Given the description of an element on the screen output the (x, y) to click on. 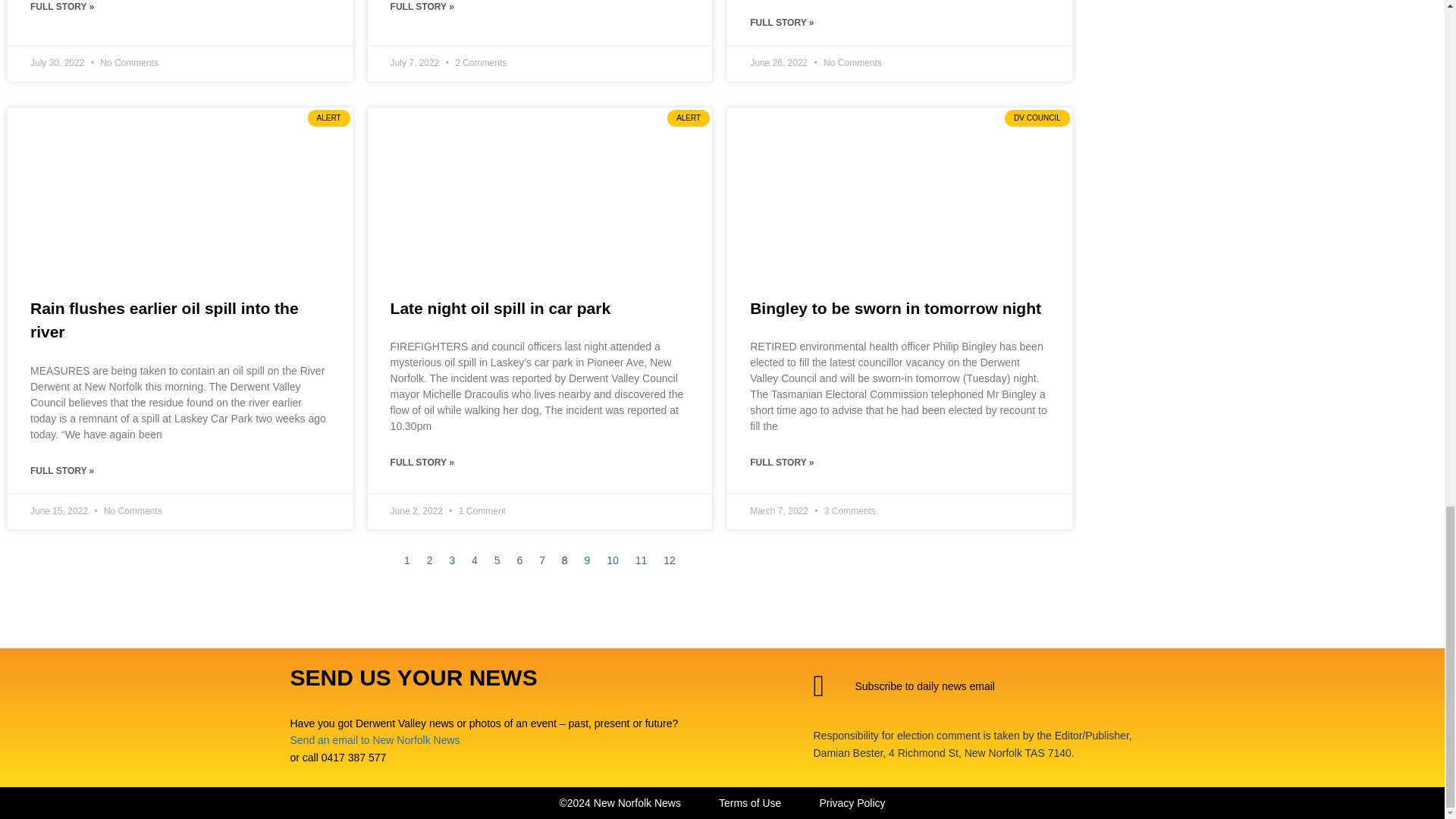
Rain flushes earlier oil spill into the river (164, 320)
